Given the description of an element on the screen output the (x, y) to click on. 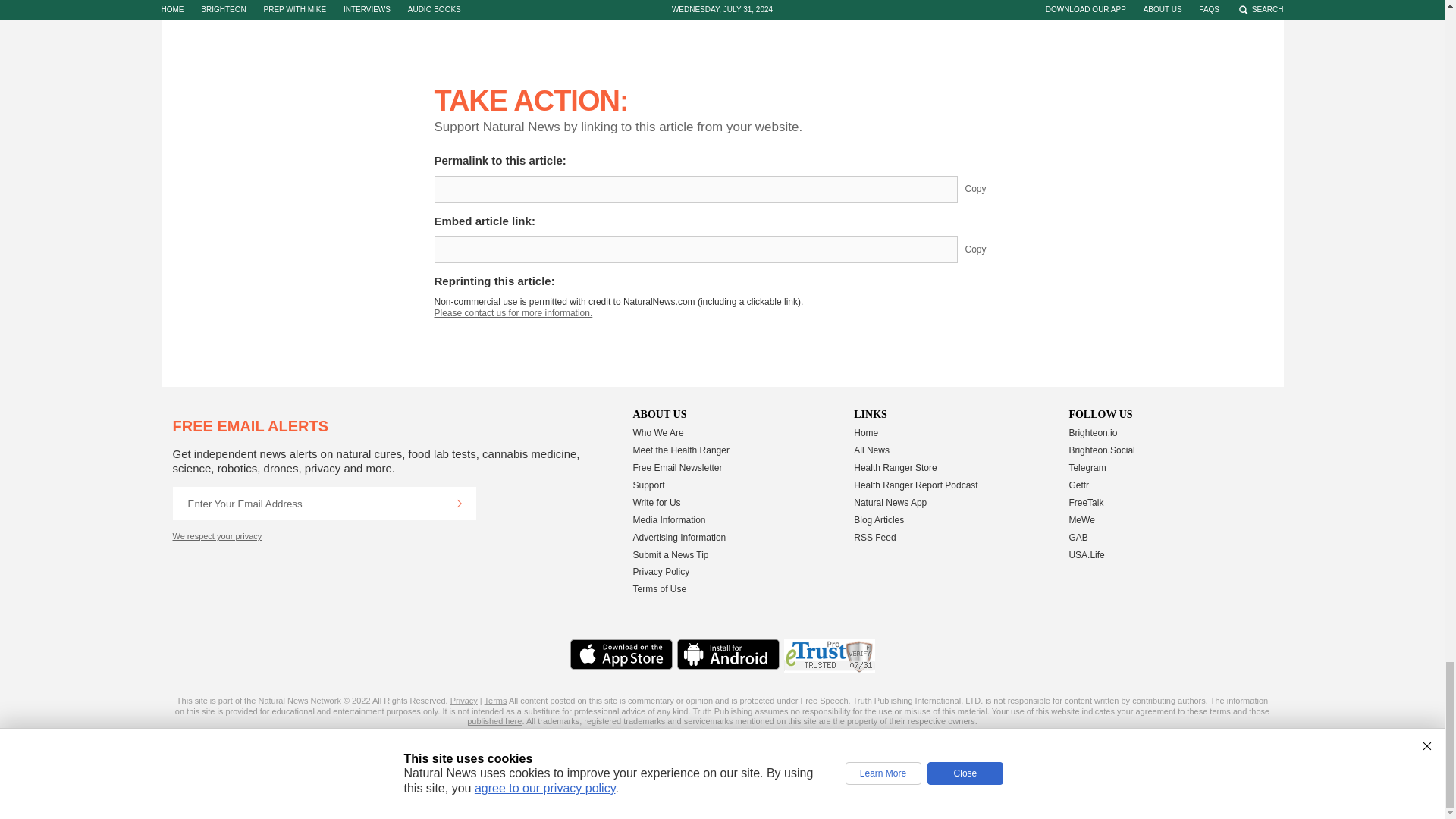
eTrust Pro Certified (829, 656)
Copy Embed Link (986, 248)
Copy Permalink (986, 189)
Continue (459, 503)
